Given the description of an element on the screen output the (x, y) to click on. 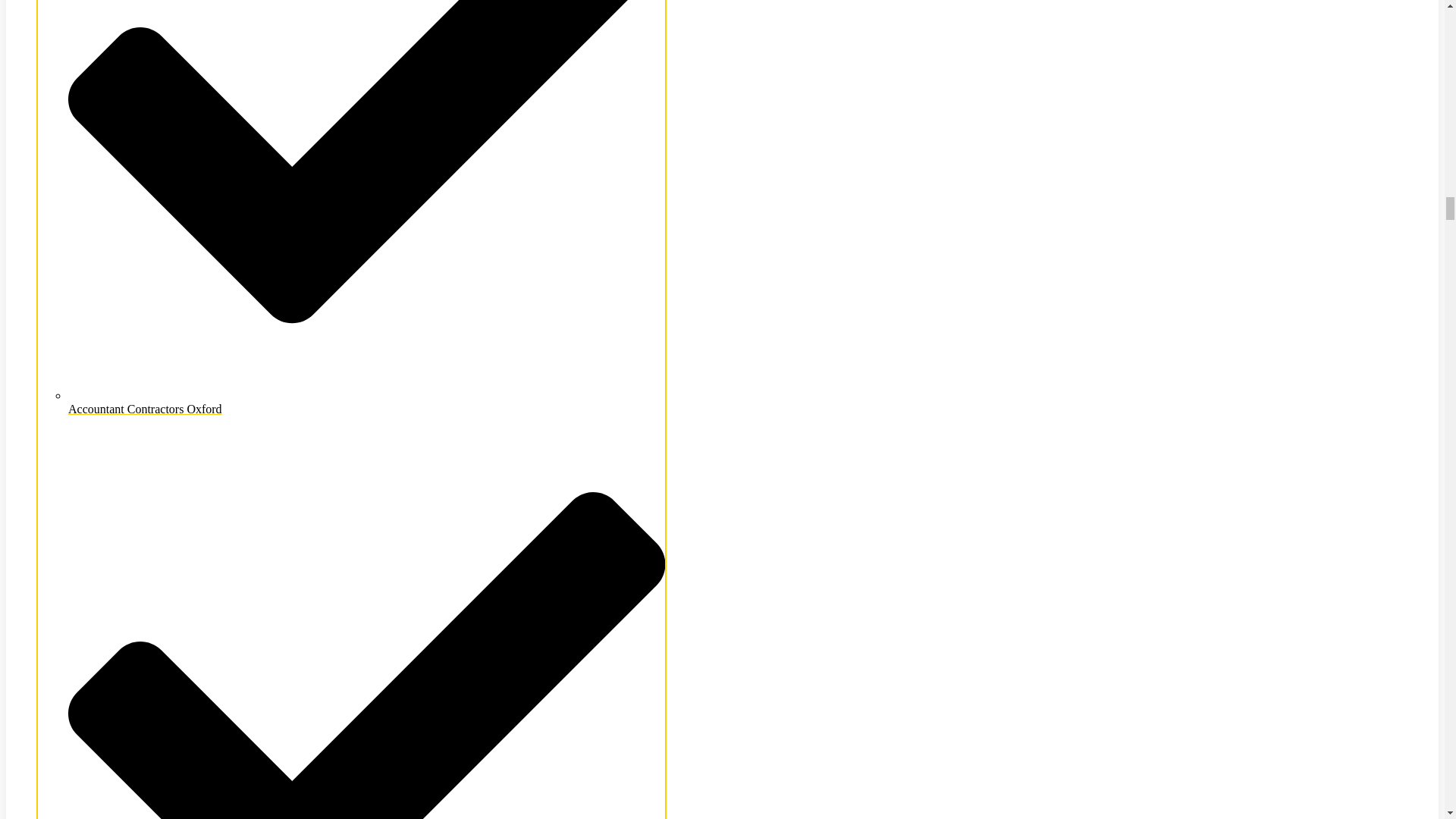
Accountant Contractors Oxford (366, 402)
